Given the description of an element on the screen output the (x, y) to click on. 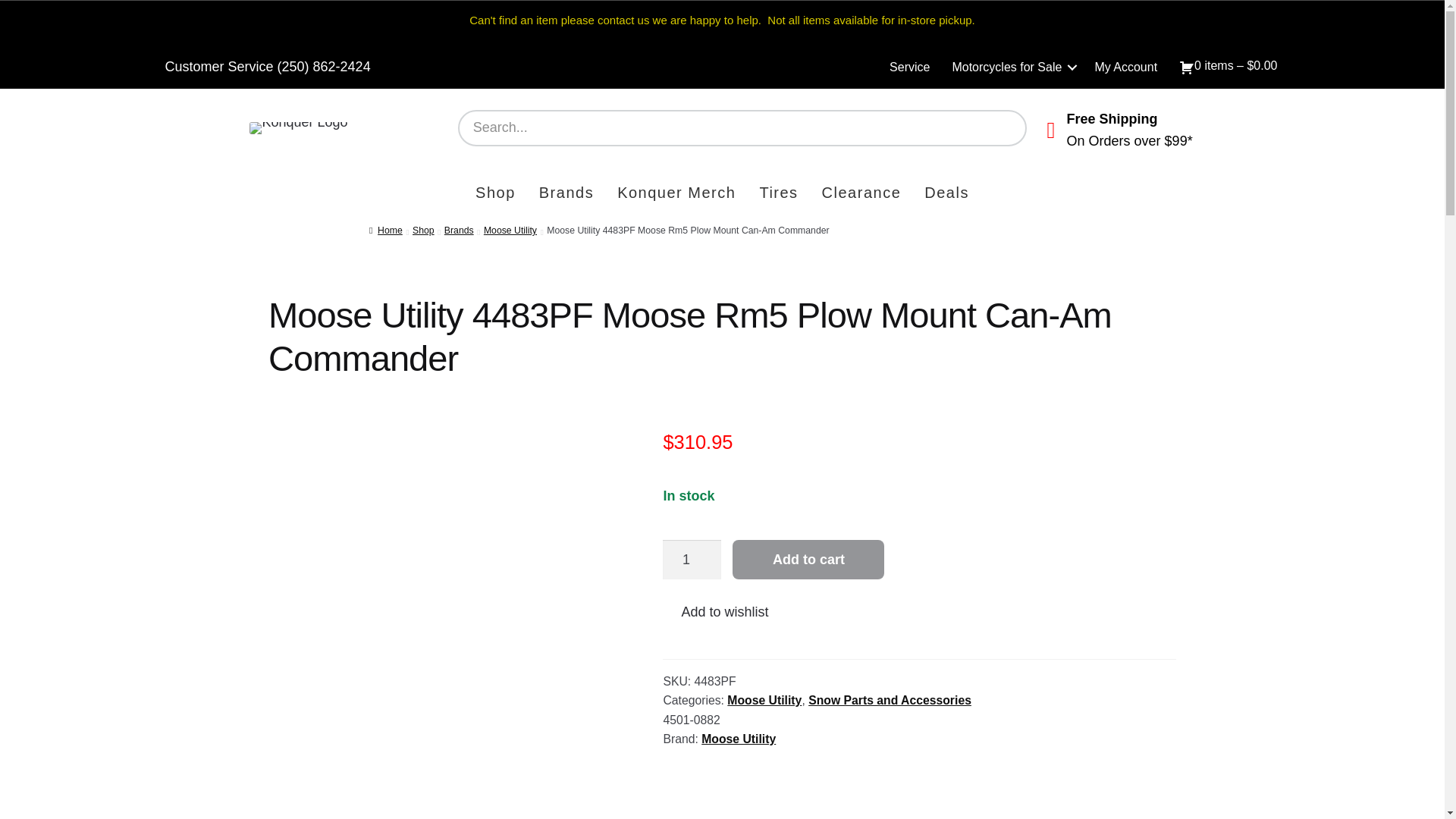
Motorcycles for Sale (1011, 66)
Add to cart (807, 558)
Brands (566, 194)
Customer Service (219, 66)
Tires (778, 194)
Clearance (861, 194)
Home (386, 230)
Deals (945, 194)
Konquer Logo (298, 128)
My Account (1125, 66)
1 (691, 558)
Konquer Merch (675, 194)
Start shopping (1228, 66)
Moose Utility (510, 230)
Service (909, 66)
